Given the description of an element on the screen output the (x, y) to click on. 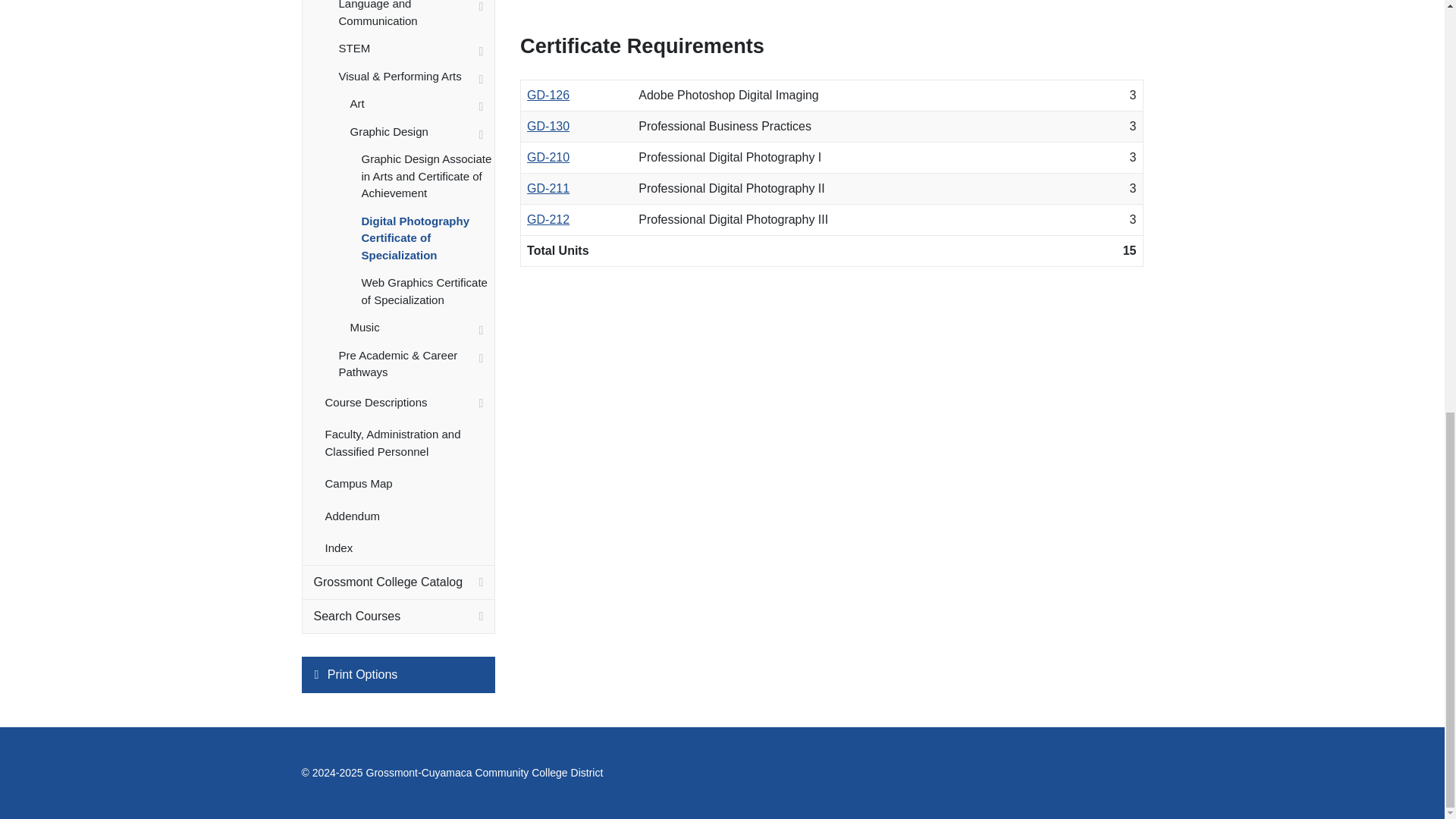
GD-212 (548, 219)
GD-130 (548, 125)
GD-210 (548, 156)
GD-126 (548, 94)
GD-211 (548, 187)
